Given the description of an element on the screen output the (x, y) to click on. 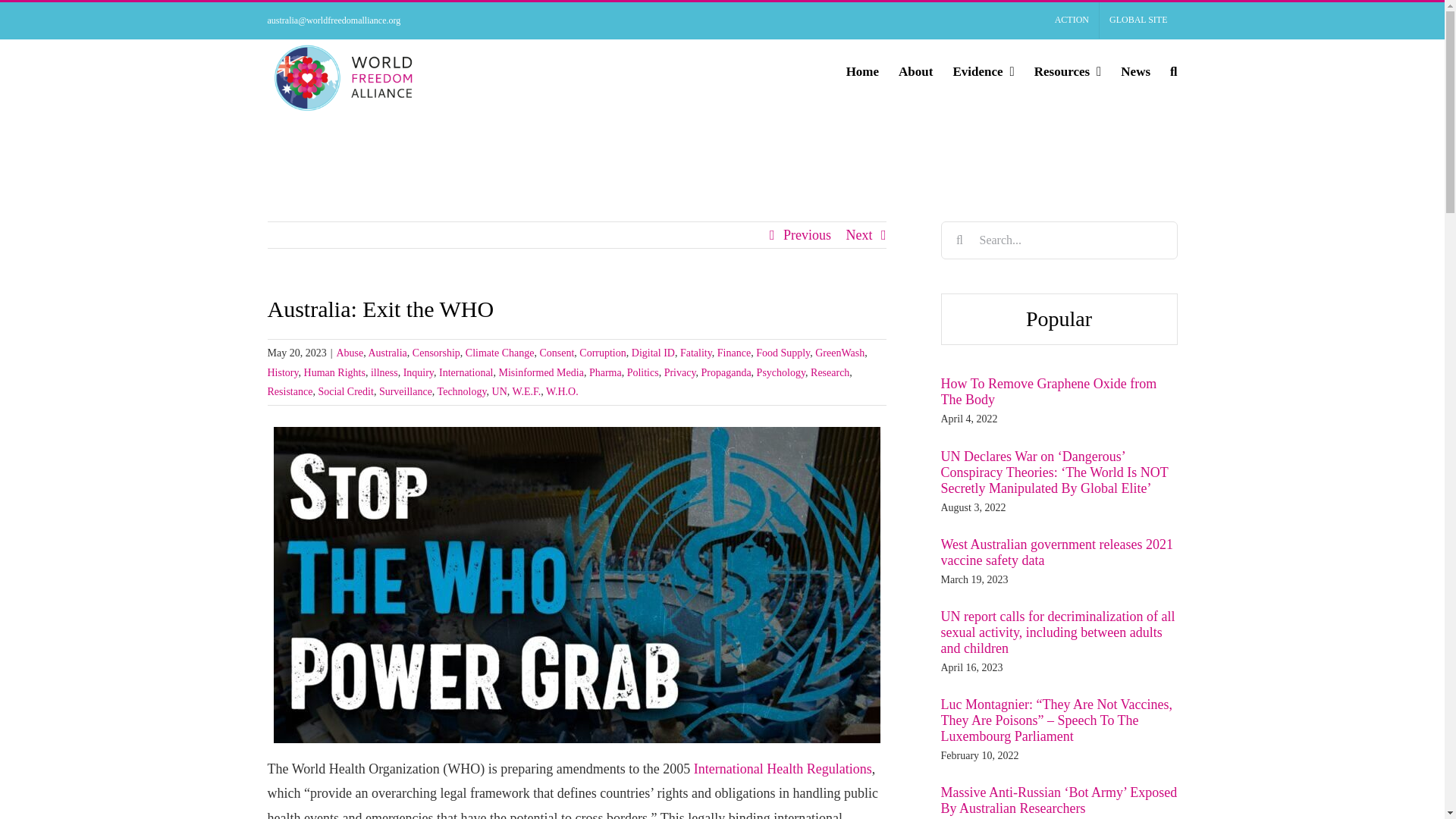
About (915, 71)
Evidence (982, 71)
GLOBAL SITE (1138, 20)
Search (1173, 71)
ACTION (1072, 20)
Home (862, 71)
News (1135, 71)
Resources (1067, 71)
